Given the description of an element on the screen output the (x, y) to click on. 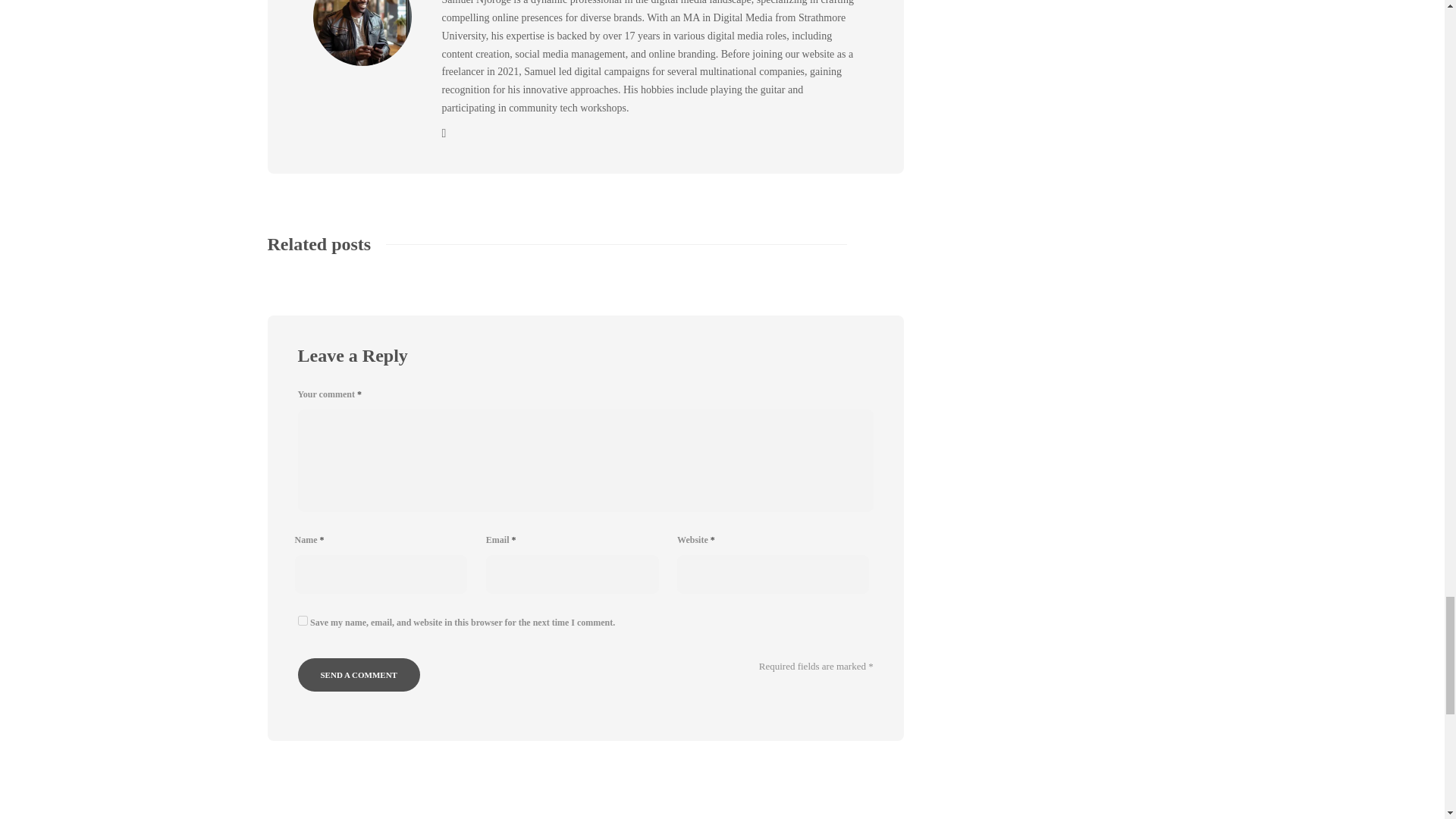
Send a comment (358, 674)
yes (302, 620)
